Given the description of an element on the screen output the (x, y) to click on. 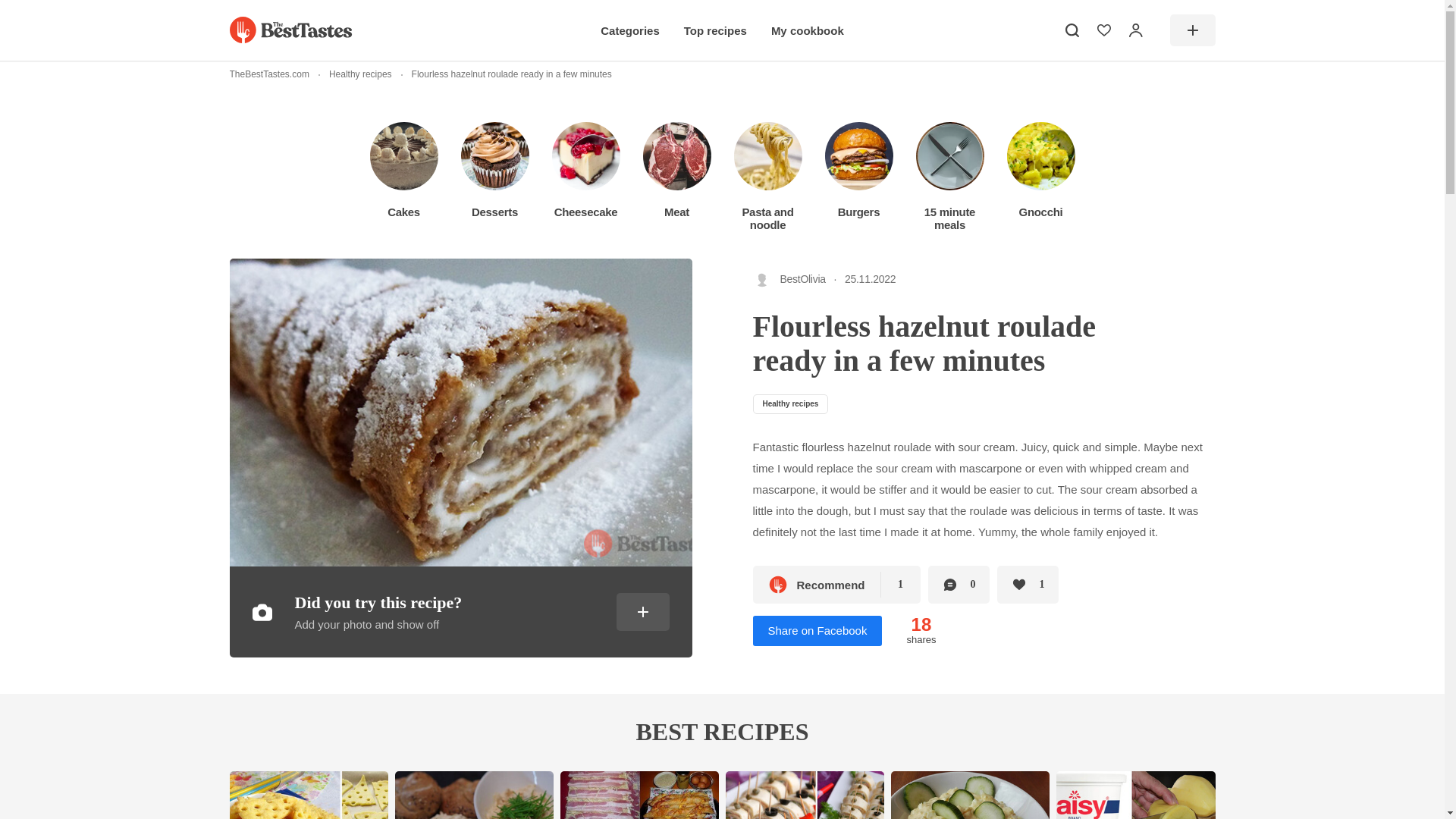
Flourless hazelnut roulade ready in a few minutes (501, 74)
My cookbook (807, 30)
TheBestTastes.com (268, 74)
Healthy recipes (349, 74)
TheBestTastes.com (290, 30)
Top recipes (715, 30)
Categories (629, 30)
